Given the description of an element on the screen output the (x, y) to click on. 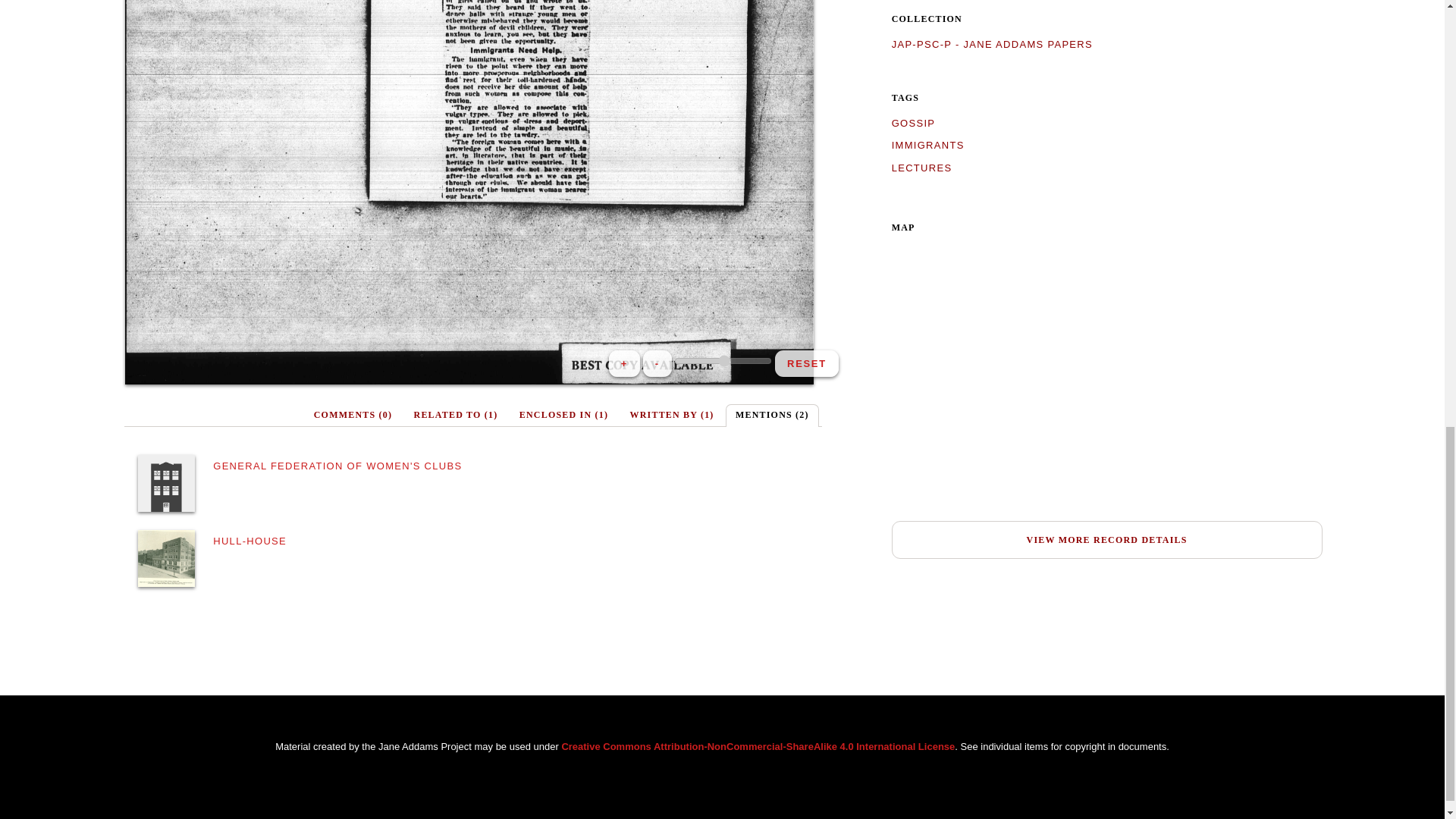
GENERAL FEDERATION OF WOMEN'S CLUBS (336, 465)
- (657, 363)
2.1 (722, 360)
Hull-House Polk Street view.jpg (166, 558)
HULL-HOUSE (249, 541)
RESET (806, 363)
